Given the description of an element on the screen output the (x, y) to click on. 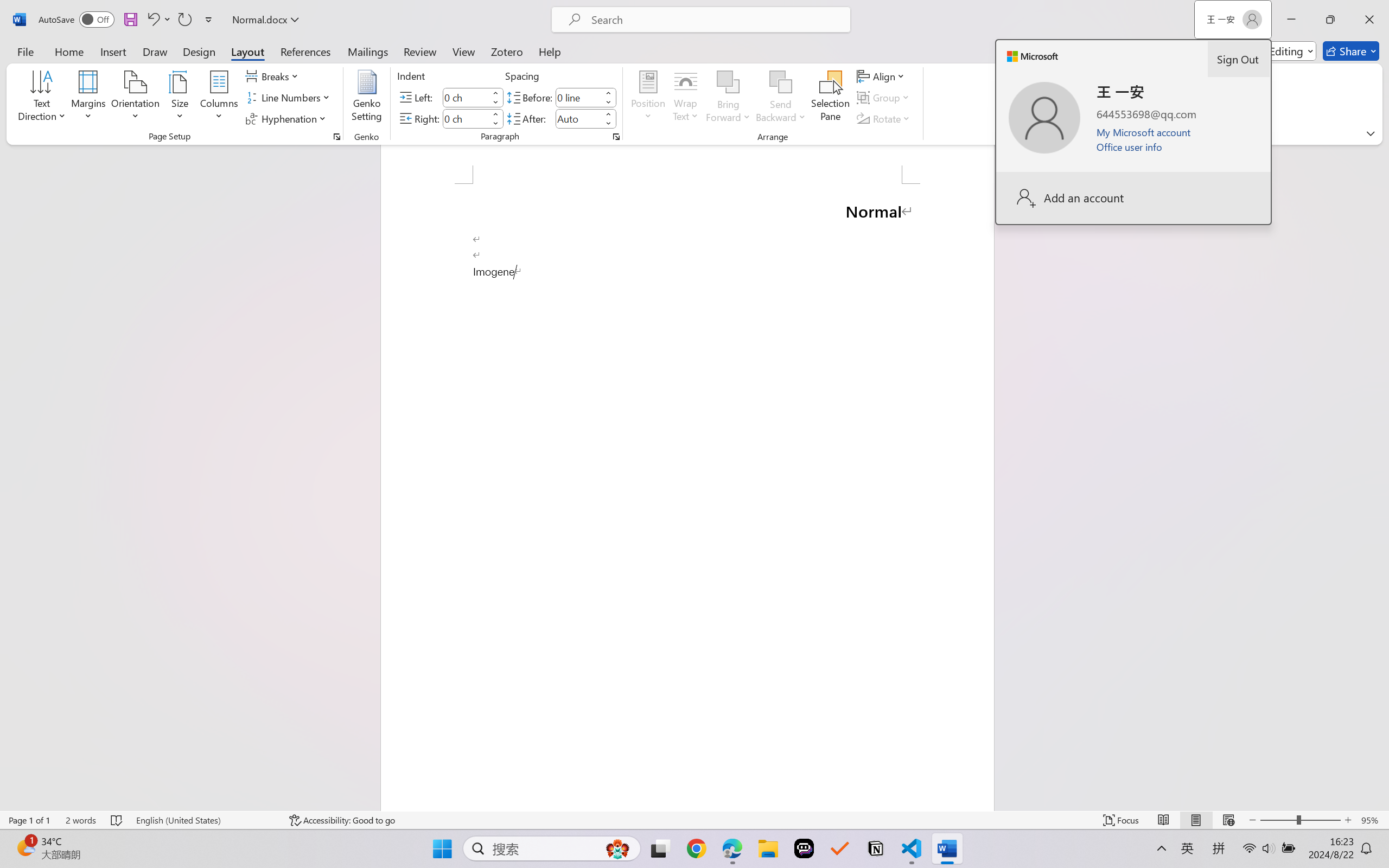
Undo Paragraph Formatting (152, 19)
Position (647, 97)
Poe (804, 848)
Google Chrome (696, 848)
Class: MsoCommandBar (694, 819)
